Given the description of an element on the screen output the (x, y) to click on. 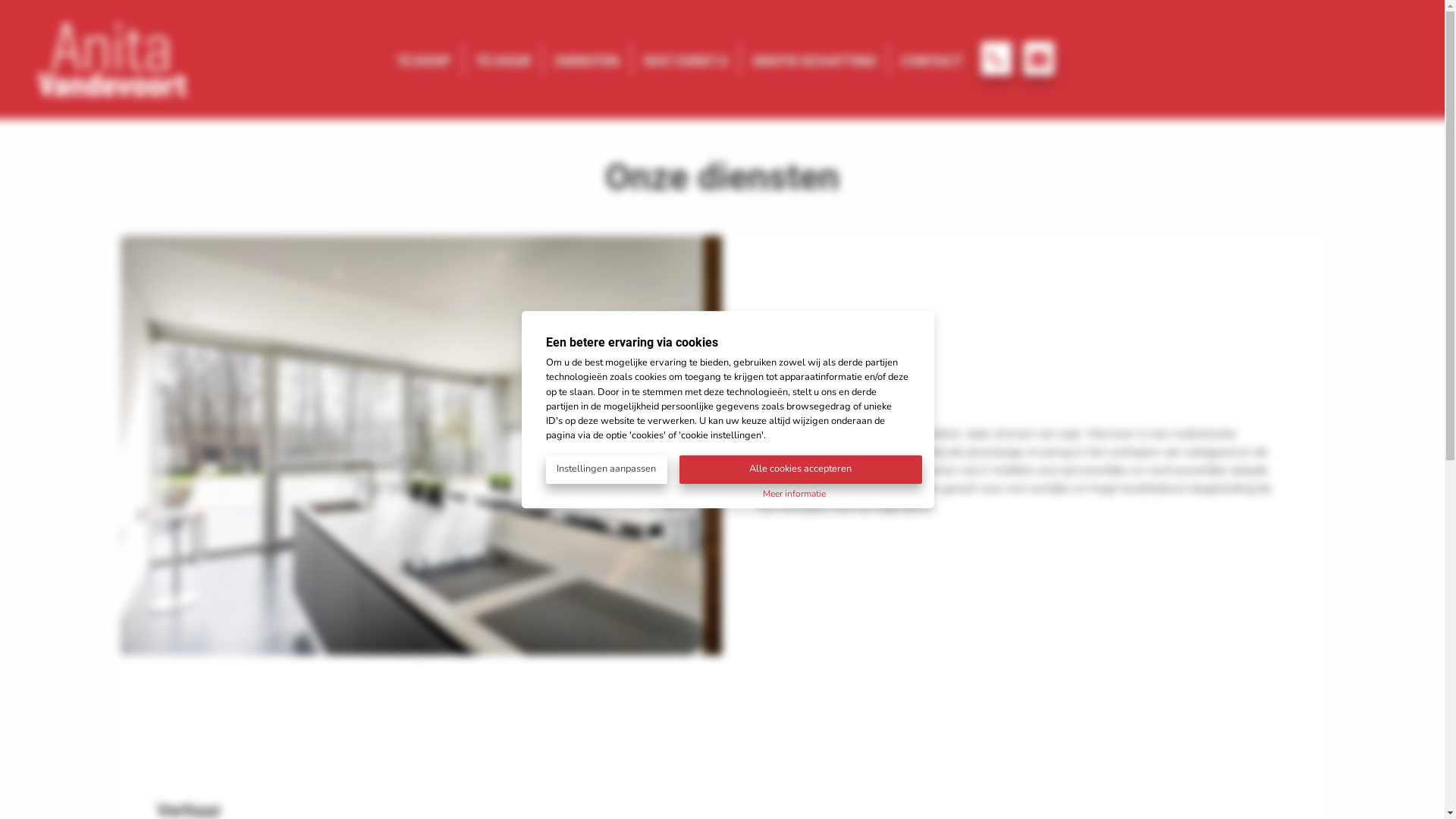
TE HUUR Element type: text (502, 58)
CONTACT Element type: text (931, 58)
TE KOOP Element type: text (423, 58)
Go to the homepage Element type: hover (112, 102)
Meer informatie Element type: text (793, 492)
WAT ZOEKT U Element type: text (685, 58)
Instellingen aanpassen Element type: text (612, 468)
GRATIS SCHATTING Element type: text (814, 58)
Instellingen aanpassen Element type: text (606, 469)
DIENSTEN Element type: text (586, 58)
Alle cookies accepteren Element type: text (800, 469)
